Given the description of an element on the screen output the (x, y) to click on. 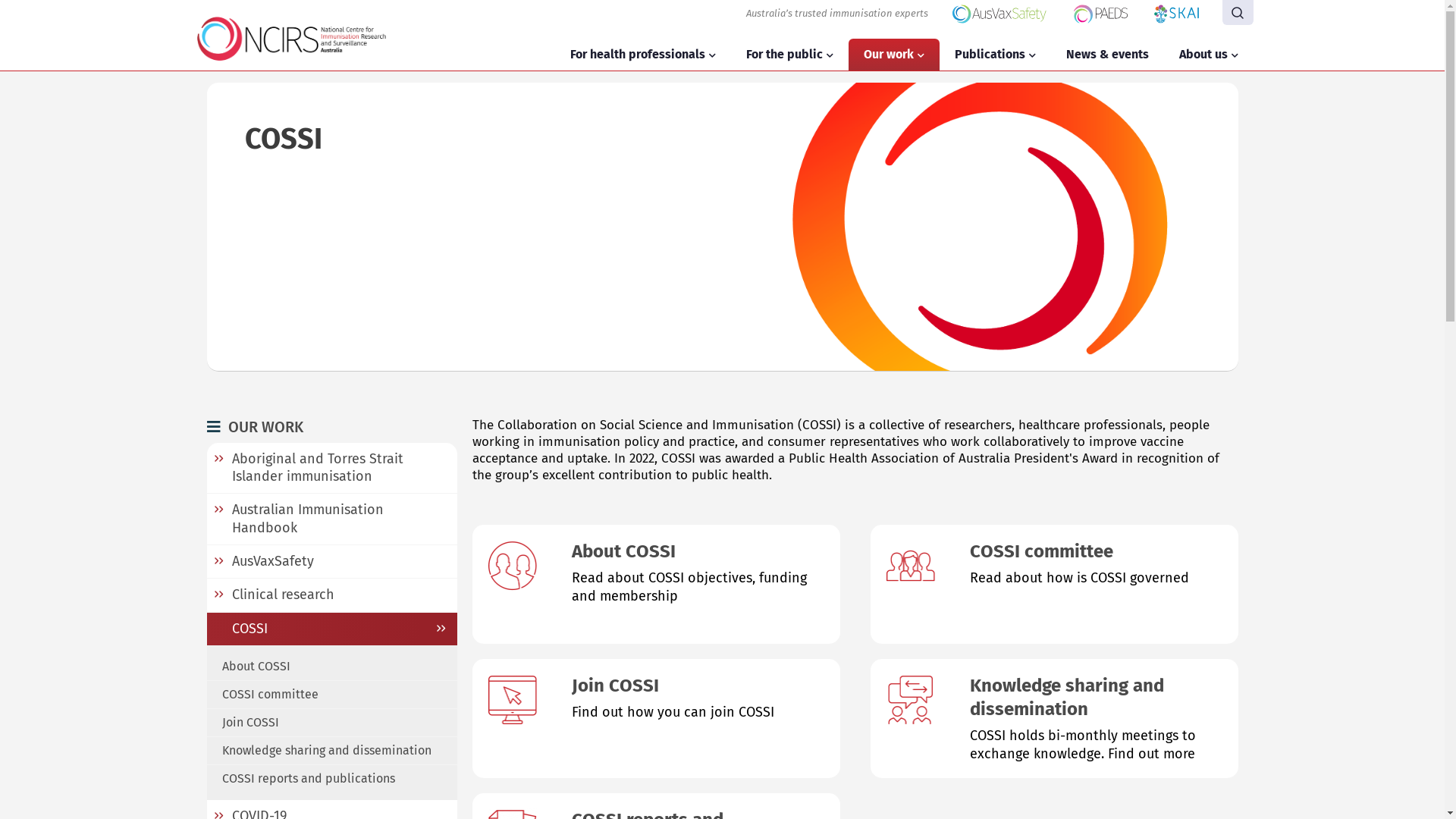
For health professionals Element type: text (637, 54)
Join COSSI Element type: text (331, 722)
AusVaxSafety Element type: text (331, 561)
Clinical research Element type: text (331, 594)
Search Element type: text (1237, 12)
For the public Element type: text (784, 54)
Publications Element type: text (988, 54)
COSSI Element type: text (331, 628)
COSSI reports and publications Element type: text (331, 782)
News & events Element type: text (1107, 54)
About COSSI Element type: text (331, 662)
Skip to main content Element type: text (0, 0)
Knowledge sharing and dissemination Element type: text (331, 750)
Our work Element type: text (887, 54)
Australian Immunisation Handbook Element type: text (331, 518)
Aboriginal and Torres Strait Islander immunisation Element type: text (331, 467)
COSSI committee Element type: text (331, 694)
About us Element type: text (1202, 54)
